Given the description of an element on the screen output the (x, y) to click on. 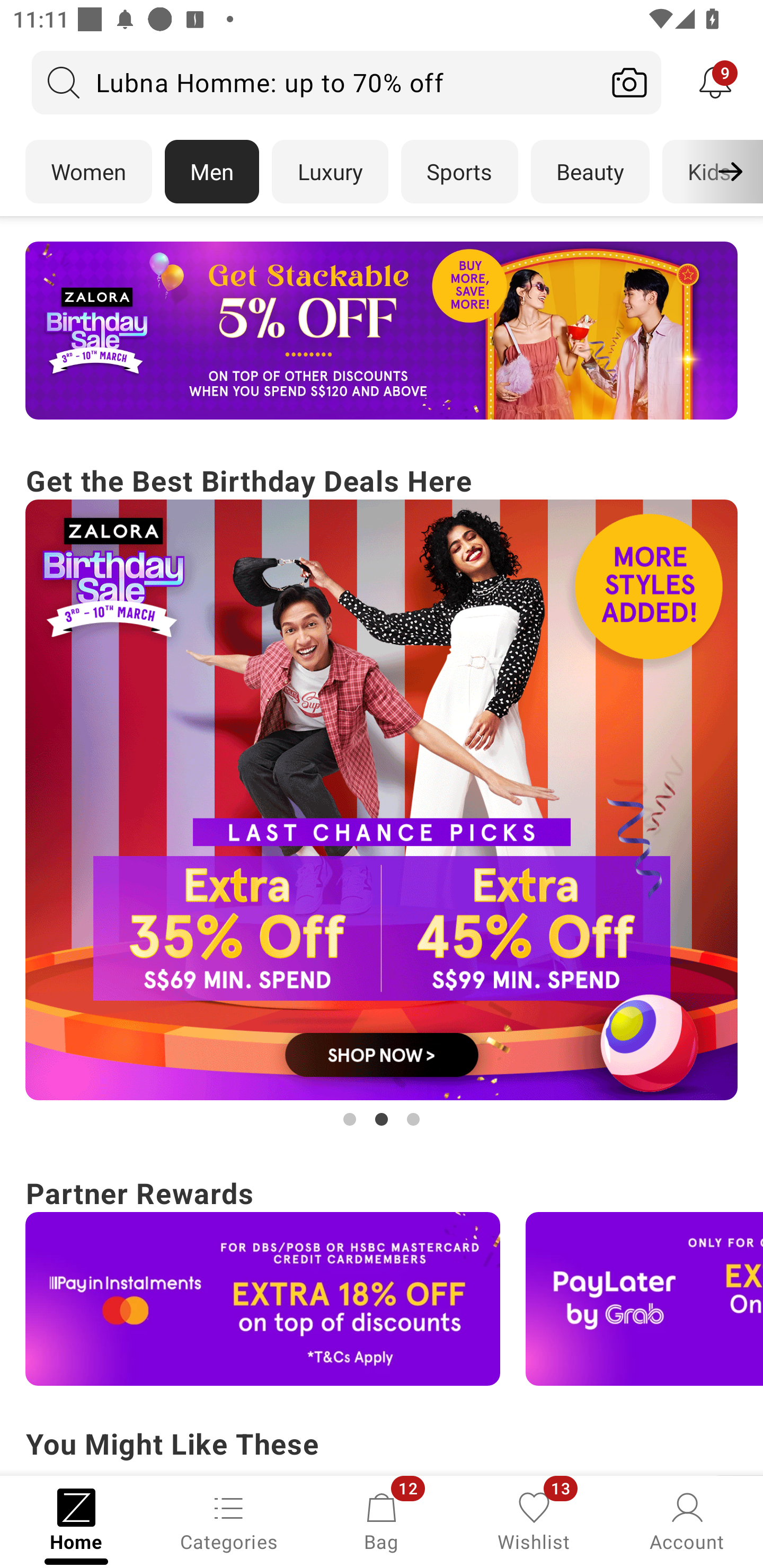
Lubna Homme: up to 70% off (314, 82)
Women (88, 171)
Men (211, 171)
Luxury (329, 171)
Sports (459, 171)
Beauty (590, 171)
Kids (709, 171)
Campaign banner (381, 330)
Get the Best Birthday Deals Here Campaign banner (381, 794)
Campaign banner (381, 800)
Partner Rewards Campaign banner Campaign banner (381, 1277)
Campaign banner (262, 1299)
Categories (228, 1519)
Bag, 12 new notifications Bag (381, 1519)
Wishlist, 13 new notifications Wishlist (533, 1519)
Account (686, 1519)
